Given the description of an element on the screen output the (x, y) to click on. 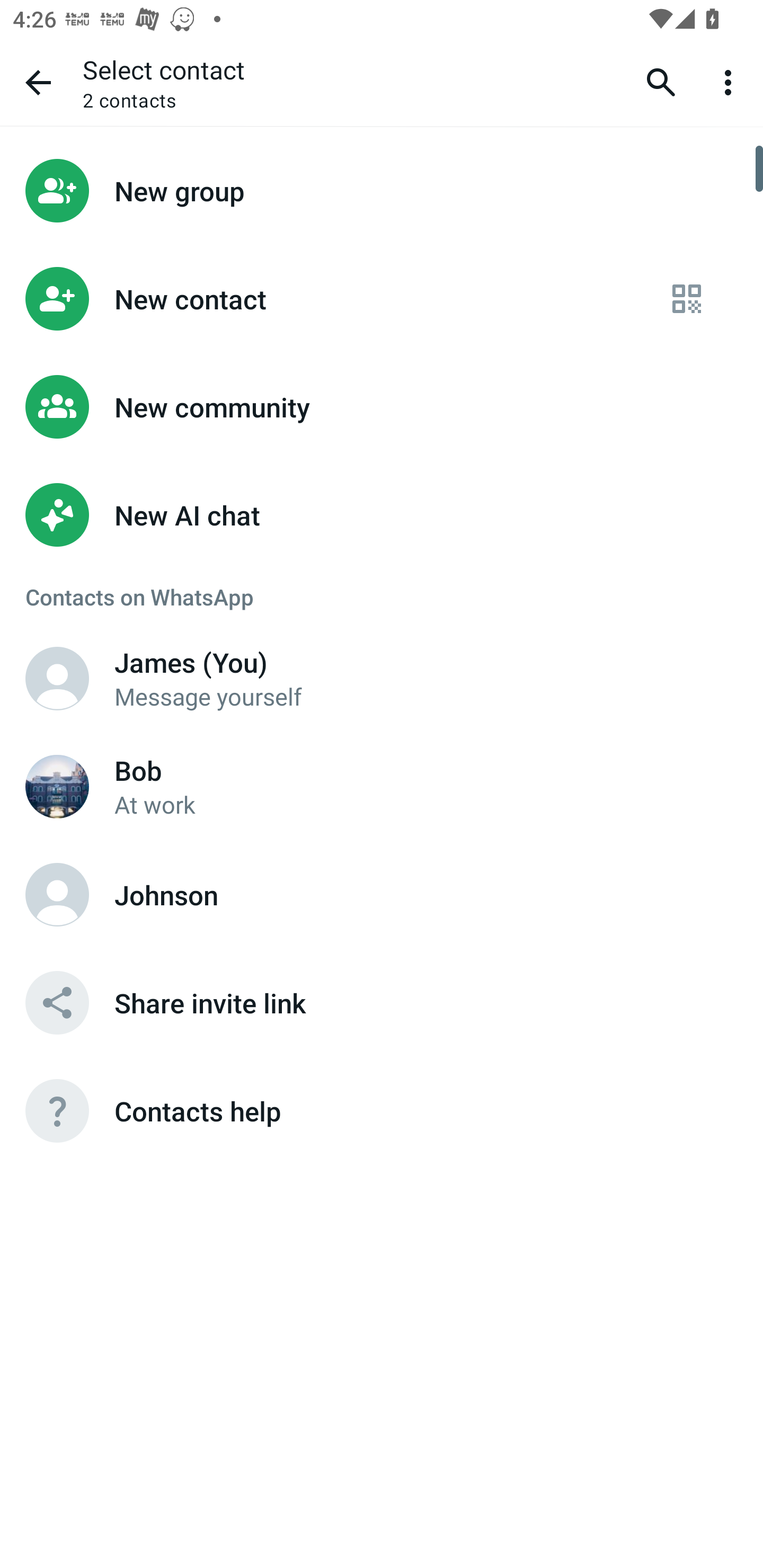
Navigate up (38, 82)
Search (661, 81)
More options (731, 81)
New group (381, 190)
New contact Scan, share QR code (381, 298)
Scan, share QR code (686, 298)
New community (381, 406)
New AI chat (381, 514)
Contacts on WhatsApp (381, 596)
+1 (646) 208-1425 James (You) Message yourself (381, 678)
+1 (646) 208-1425 (57, 678)
Bob Bob ‎At work   (381, 786)
Bob (57, 786)
Johnson (381, 894)
Johnson (57, 894)
Share invite link (381, 1002)
Contacts help (381, 1110)
